Given the description of an element on the screen output the (x, y) to click on. 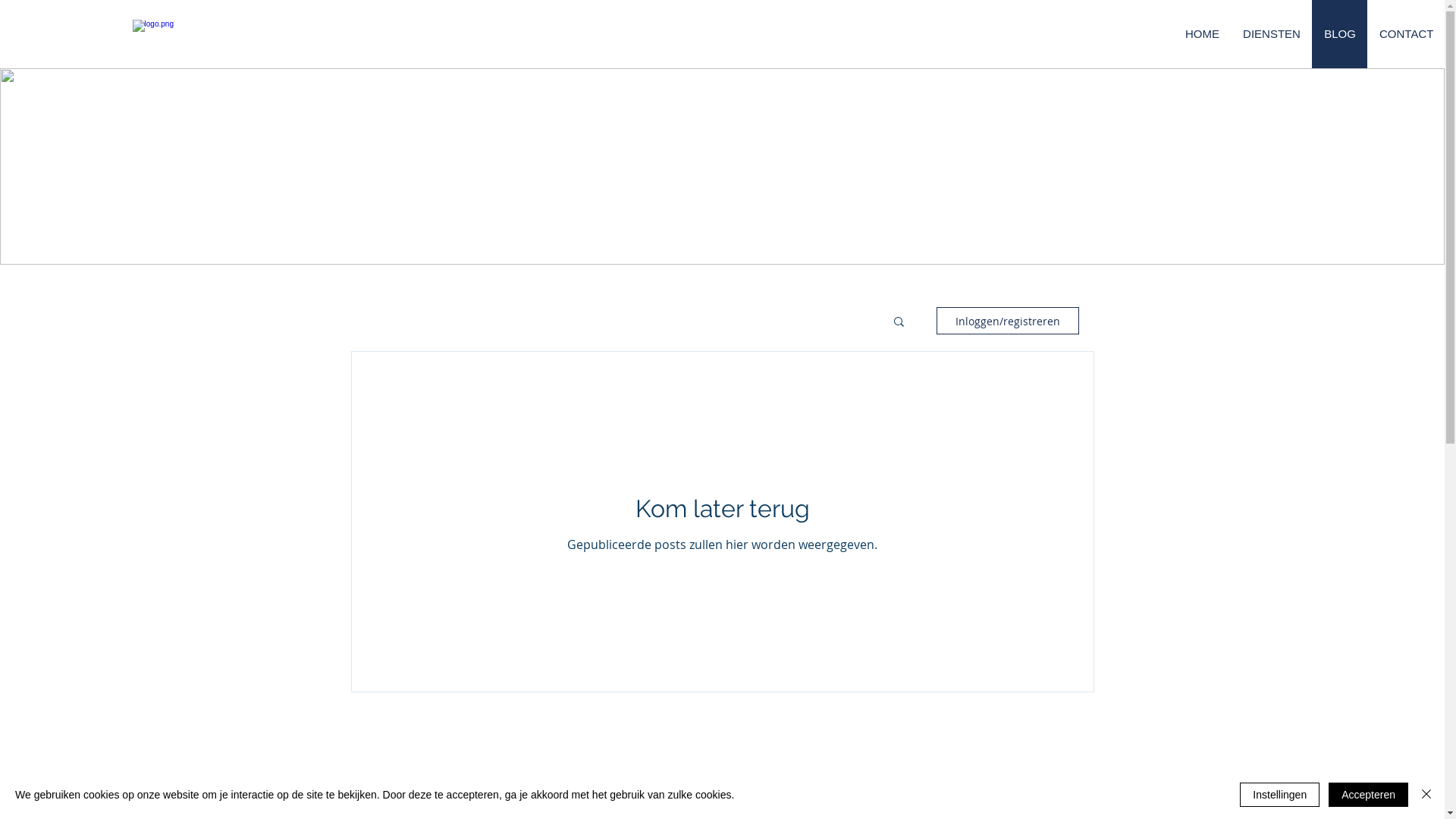
DIENSTEN Element type: text (1270, 34)
Instellingen Element type: text (1279, 794)
Inloggen/registreren Element type: text (1006, 320)
HOME Element type: text (1201, 34)
BLOG Element type: text (1339, 34)
Accepteren Element type: text (1368, 794)
CONTACT Element type: text (1405, 34)
